Given the description of an element on the screen output the (x, y) to click on. 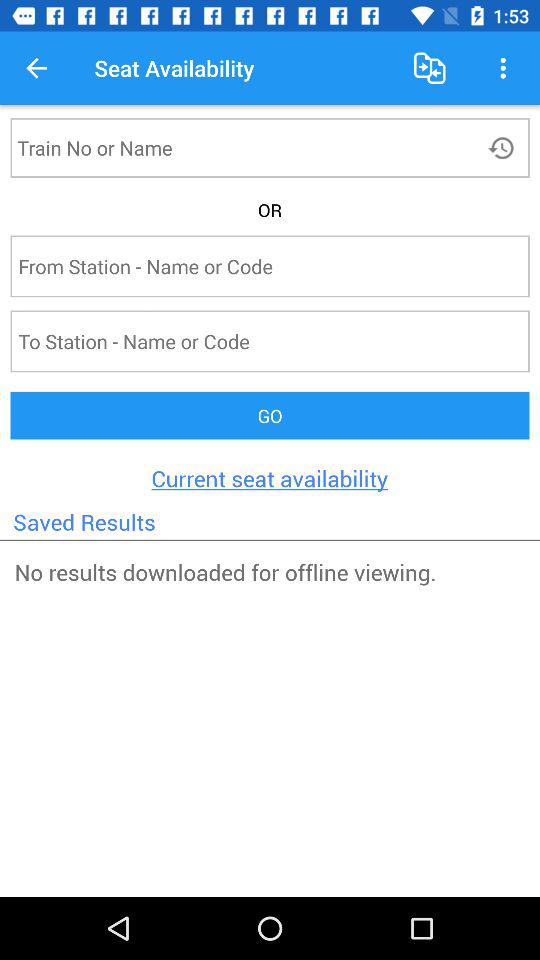
launch icon to the right of the seat availability (429, 67)
